Given the description of an element on the screen output the (x, y) to click on. 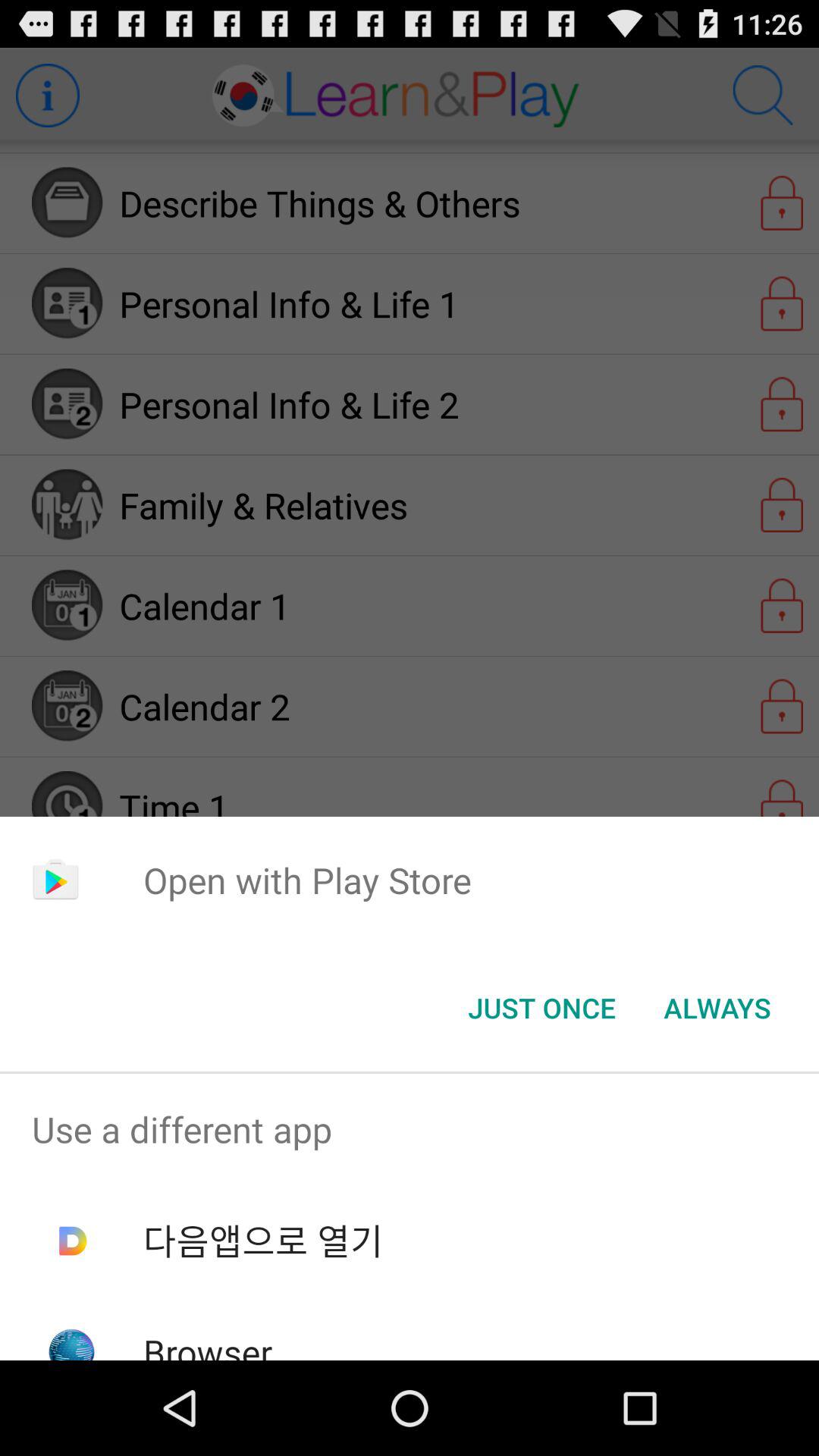
choose browser icon (207, 1344)
